Given the description of an element on the screen output the (x, y) to click on. 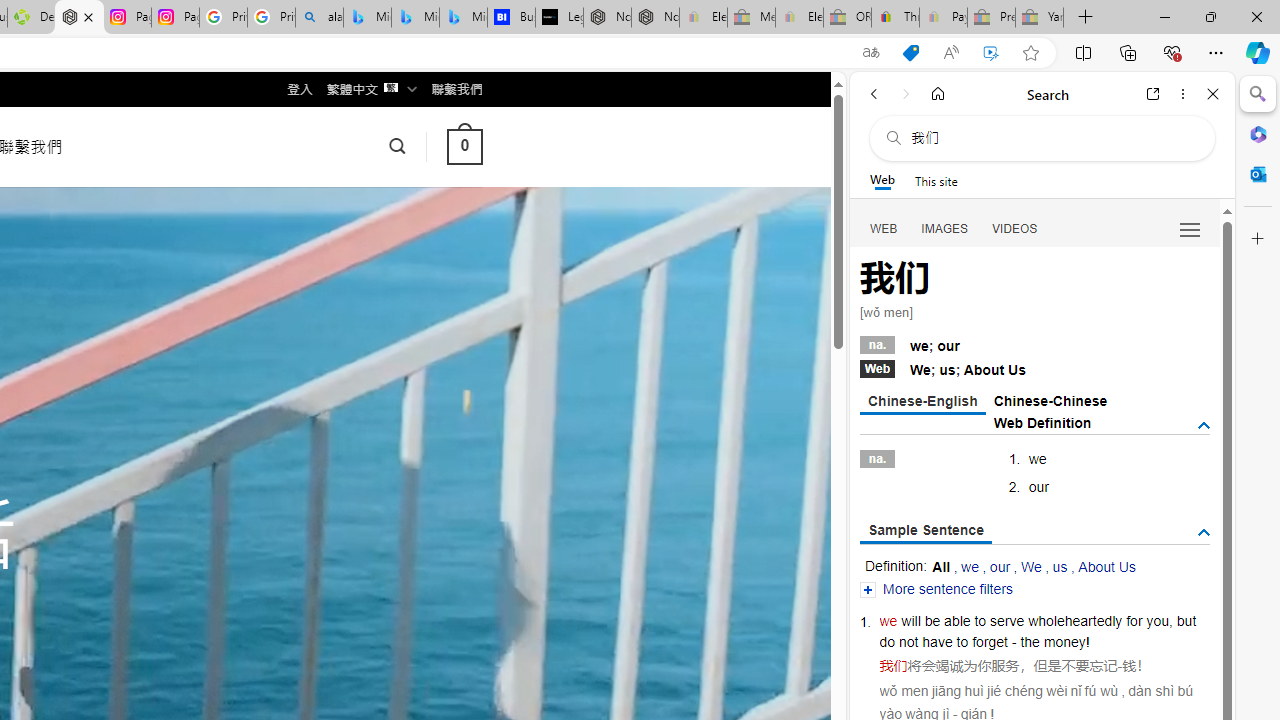
but (1186, 620)
will (911, 620)
forget (989, 642)
, (1170, 620)
alabama high school quarterback dies - Search (319, 17)
